Given the description of an element on the screen output the (x, y) to click on. 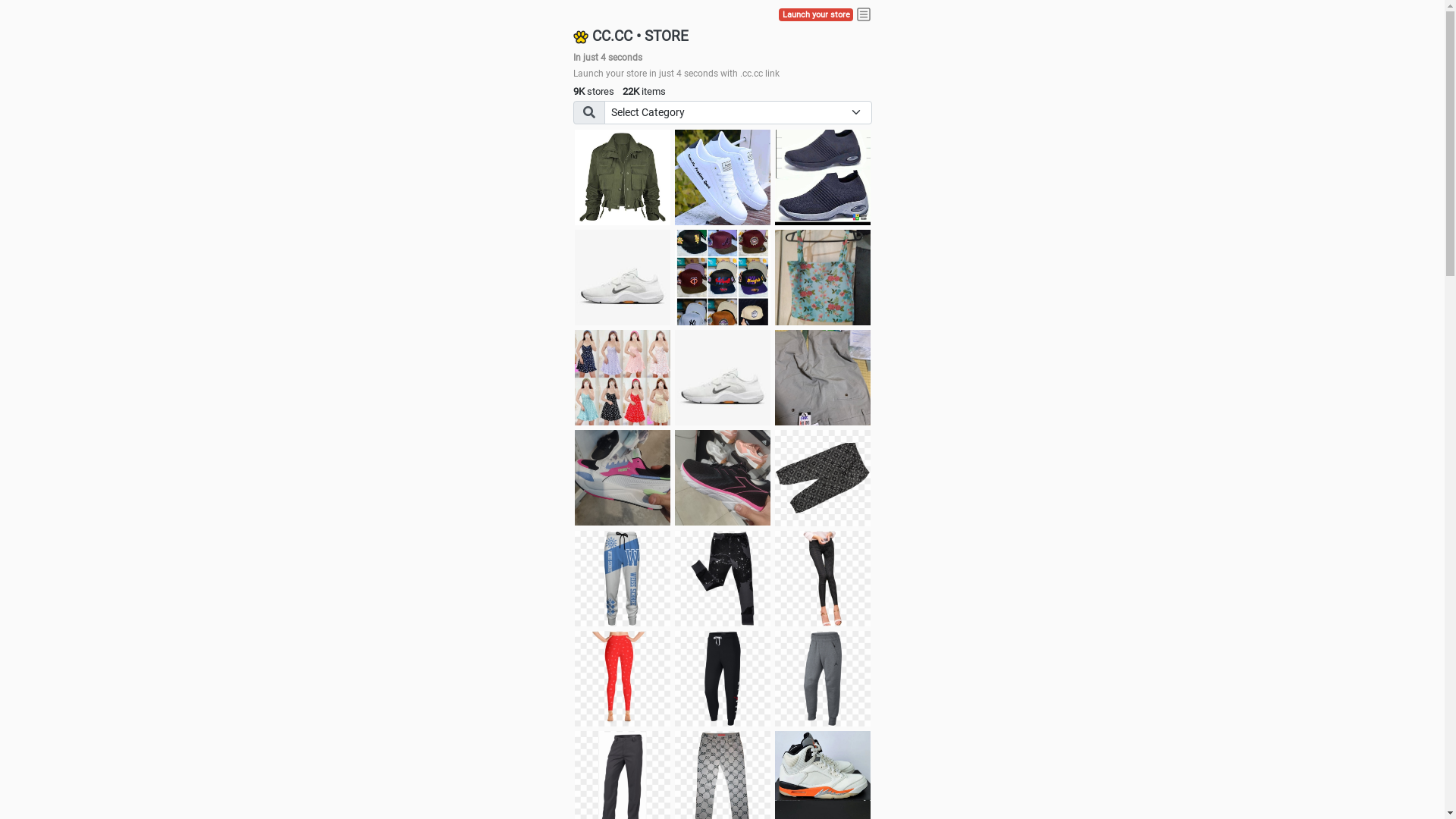
Shoes for boys Element type: hover (622, 277)
Pant Element type: hover (622, 678)
white shoes Element type: hover (722, 177)
shoes for boys Element type: hover (822, 177)
jacket Element type: hover (622, 177)
Pant Element type: hover (822, 678)
Short pant Element type: hover (822, 477)
Shoes Element type: hover (722, 377)
Zapatillas Element type: hover (722, 477)
Pant Element type: hover (622, 578)
Dress/square nect top Element type: hover (622, 377)
Things we need Element type: hover (722, 277)
Ukay cloth Element type: hover (822, 277)
Pant Element type: hover (722, 678)
Zapatillas pumas Element type: hover (622, 477)
Pant Element type: hover (722, 578)
Launch your store Element type: text (815, 14)
Pant Element type: hover (822, 578)
